Given the description of an element on the screen output the (x, y) to click on. 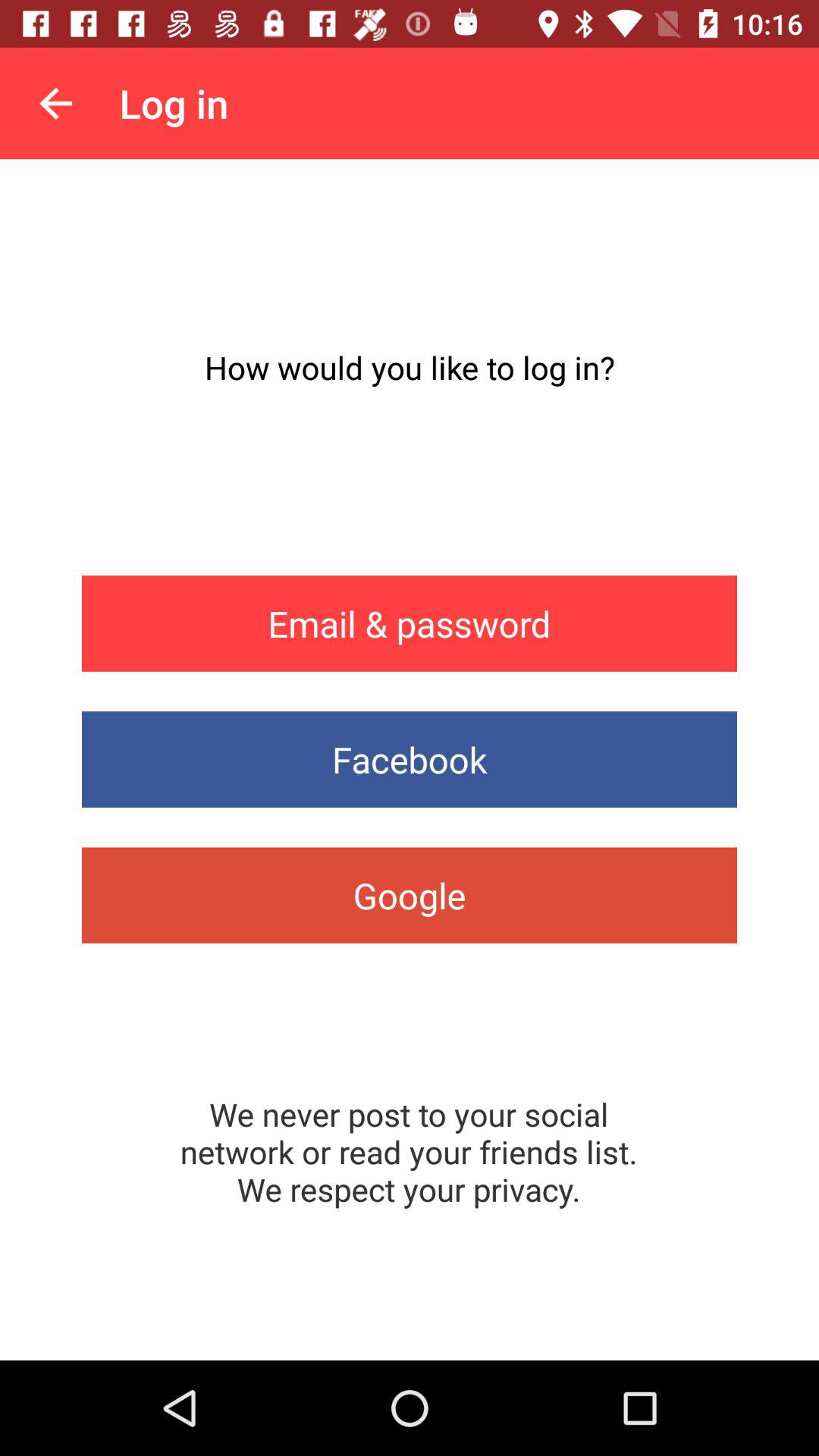
turn on facebook icon (409, 759)
